Given the description of an element on the screen output the (x, y) to click on. 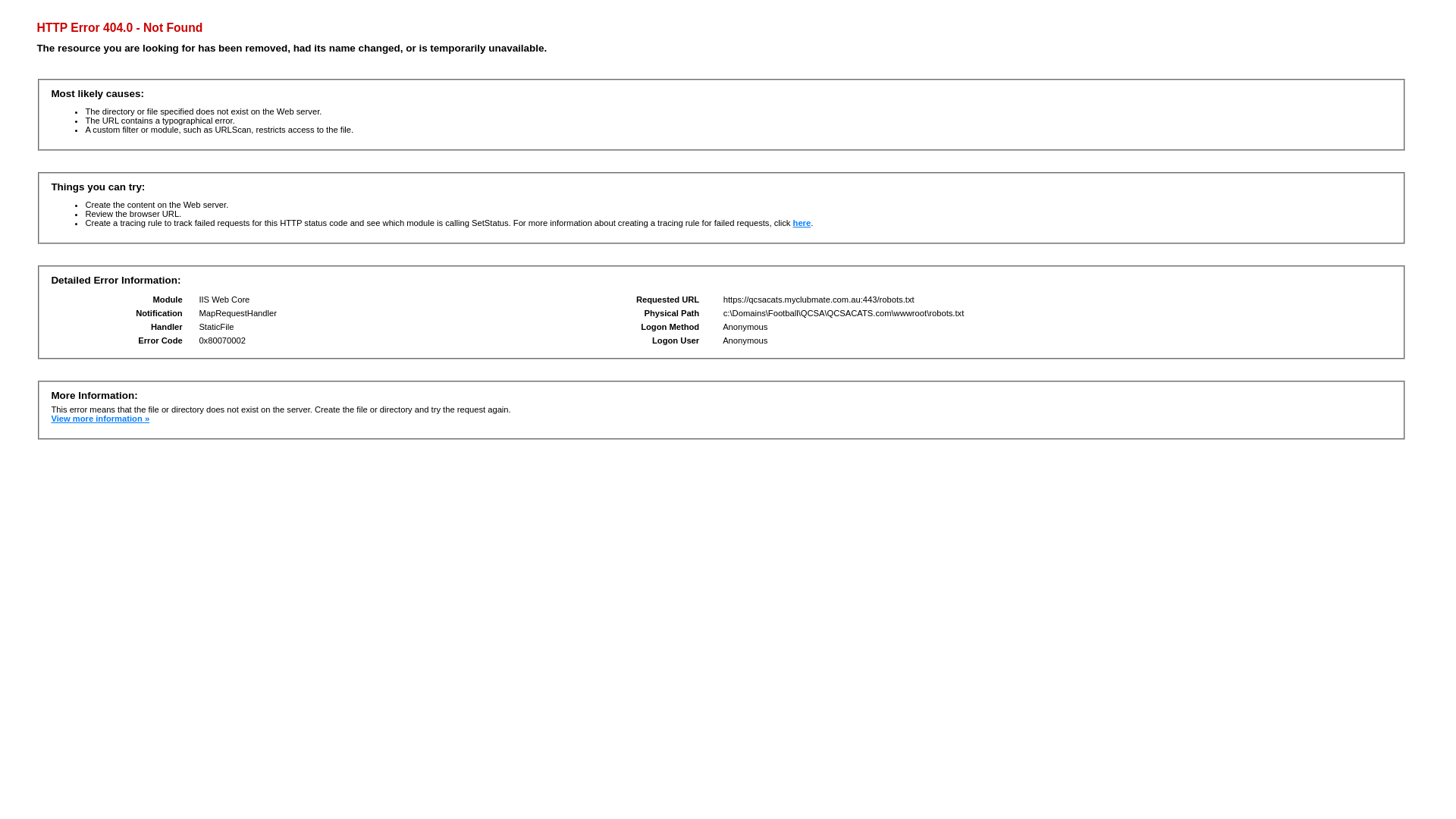
here Element type: text (802, 222)
